Given the description of an element on the screen output the (x, y) to click on. 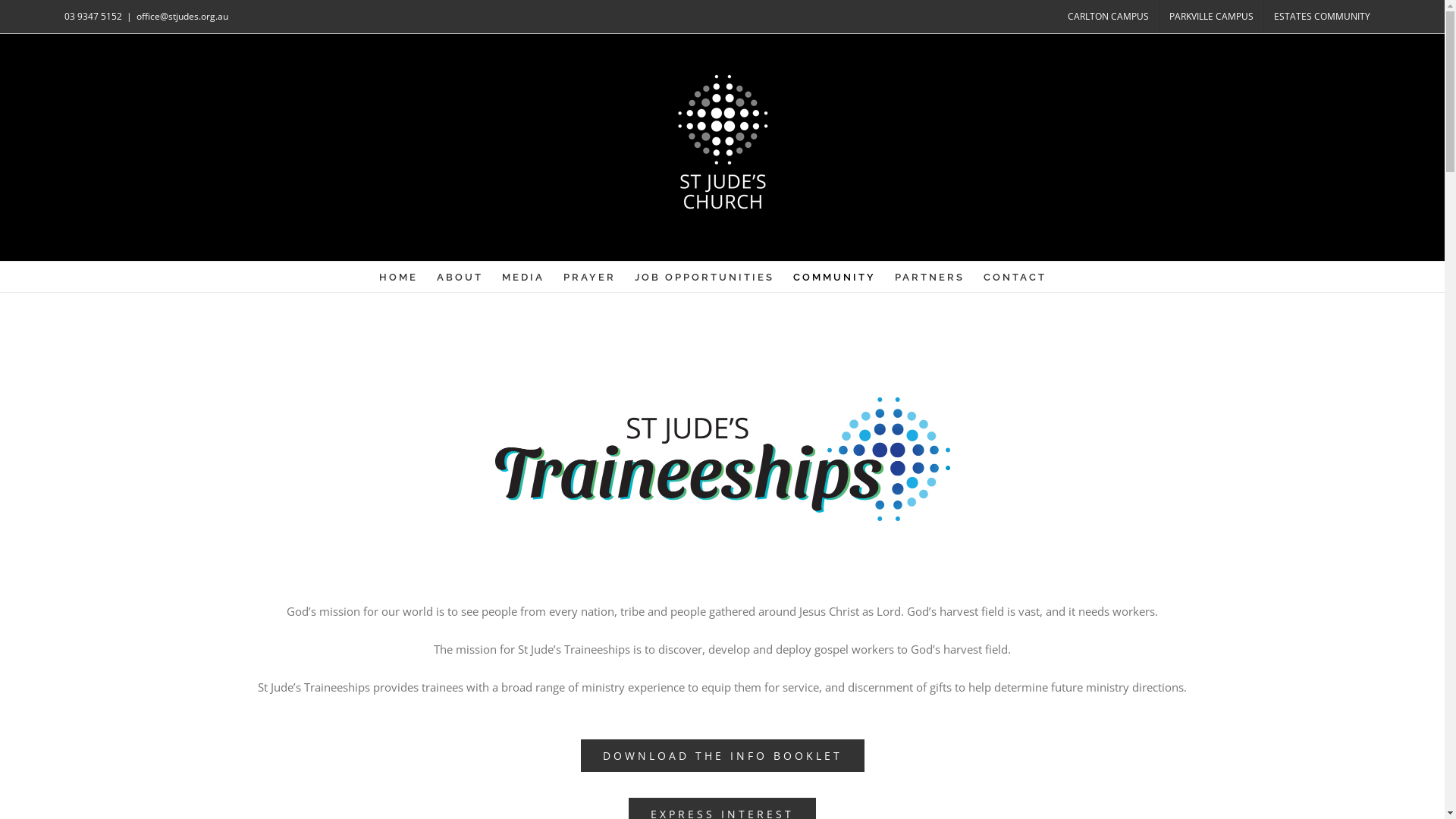
COMMUNITY Element type: text (834, 276)
PARKVILLE CAMPUS Element type: text (1211, 16)
ESTATES COMMUNITY Element type: text (1322, 16)
JOB OPPORTUNITIES Element type: text (704, 276)
CONTACT Element type: text (1014, 276)
PARTNERS Element type: text (929, 276)
ABOUT Element type: text (459, 276)
office@stjudes.org.au Element type: text (182, 15)
PRAYER Element type: text (589, 276)
HOME Element type: text (398, 276)
MEDIA Element type: text (523, 276)
DOWNLOAD THE INFO BOOKLET Element type: text (722, 755)
CARLTON CAMPUS Element type: text (1107, 16)
traineeships-logo Element type: hover (721, 458)
